Given the description of an element on the screen output the (x, y) to click on. 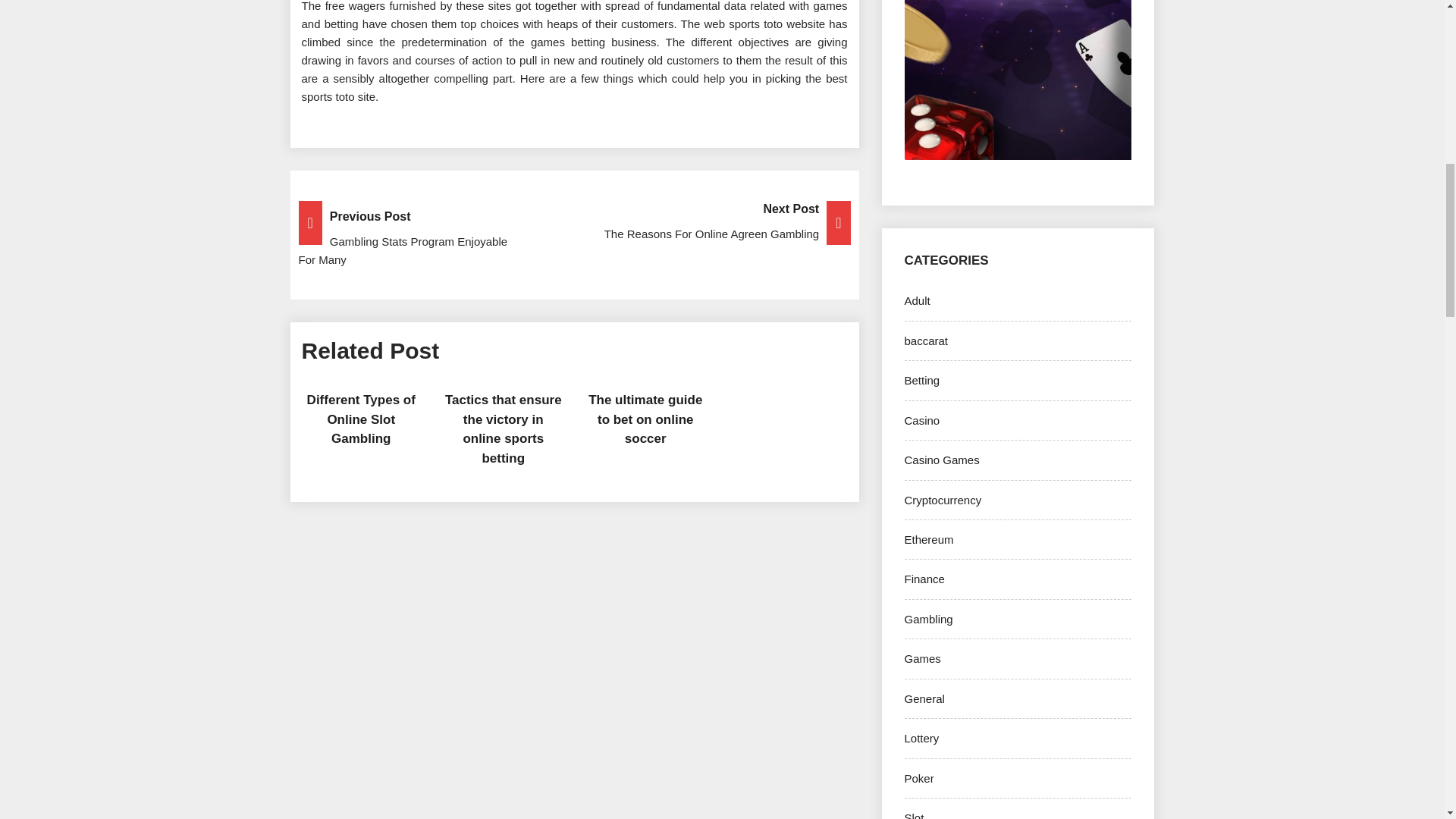
Games (922, 658)
General (923, 698)
Finance (923, 578)
Poker (918, 778)
Lottery (921, 738)
Ethereum (928, 539)
baccarat (925, 340)
Cryptocurrency (942, 499)
Slot (913, 815)
Casino (921, 420)
